Given the description of an element on the screen output the (x, y) to click on. 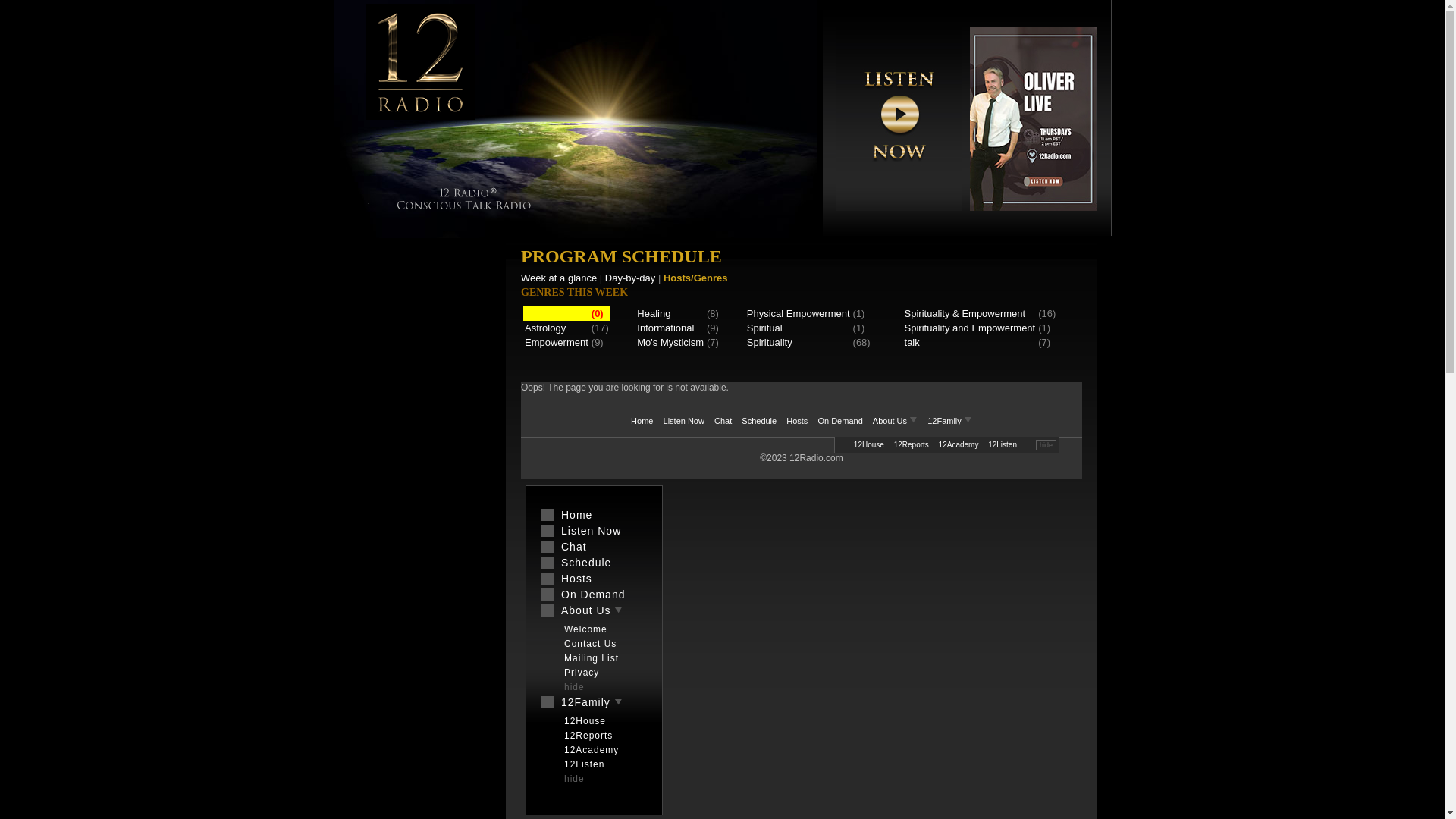
12Academy Element type: text (601, 749)
Welcome Element type: text (871, 444)
12Academy Element type: text (958, 444)
12Listen Element type: text (601, 764)
12Listen Element type: text (1002, 444)
talk Element type: text (911, 342)
Mailing List Element type: text (601, 657)
12Reports Element type: text (601, 735)
Astrology Element type: text (544, 327)
On Demand Element type: text (593, 594)
Listen Now Element type: text (593, 530)
Contact Us Element type: text (915, 444)
Week at a glance Element type: text (558, 277)
Chat Element type: text (722, 420)
Day-by-day Element type: text (630, 277)
Spirituality and Empowerment Element type: text (969, 327)
Hosts Element type: text (796, 420)
Spiritual Element type: text (764, 327)
Spirituality & Empowerment Element type: text (965, 313)
Privacy Element type: text (1004, 444)
hide Element type: text (1045, 444)
Home Element type: text (641, 420)
Contact Us Element type: text (601, 643)
Empowerment Element type: text (556, 342)
Physical Empowerment Element type: text (798, 313)
Spirituality Element type: text (769, 342)
Welcome Element type: text (601, 629)
Mo's Mysticism Element type: text (670, 342)
About Us Element type: text (593, 610)
Hosts Element type: text (593, 578)
Informational Element type: text (665, 327)
Listen Now Element type: text (683, 420)
12Reports Element type: text (911, 444)
hide Element type: text (597, 778)
12House Element type: text (601, 720)
12Family Element type: text (949, 420)
Schedule Element type: text (758, 420)
Mailing List Element type: text (962, 444)
12House Element type: text (869, 444)
Healing Element type: text (653, 313)
Privacy Element type: text (601, 672)
hide Element type: text (597, 686)
Chat Element type: text (593, 546)
12Family Element type: text (593, 702)
Home Element type: text (593, 514)
Schedule Element type: text (593, 562)
On Demand Element type: text (839, 420)
About Us Element type: text (896, 420)
